Given the description of an element on the screen output the (x, y) to click on. 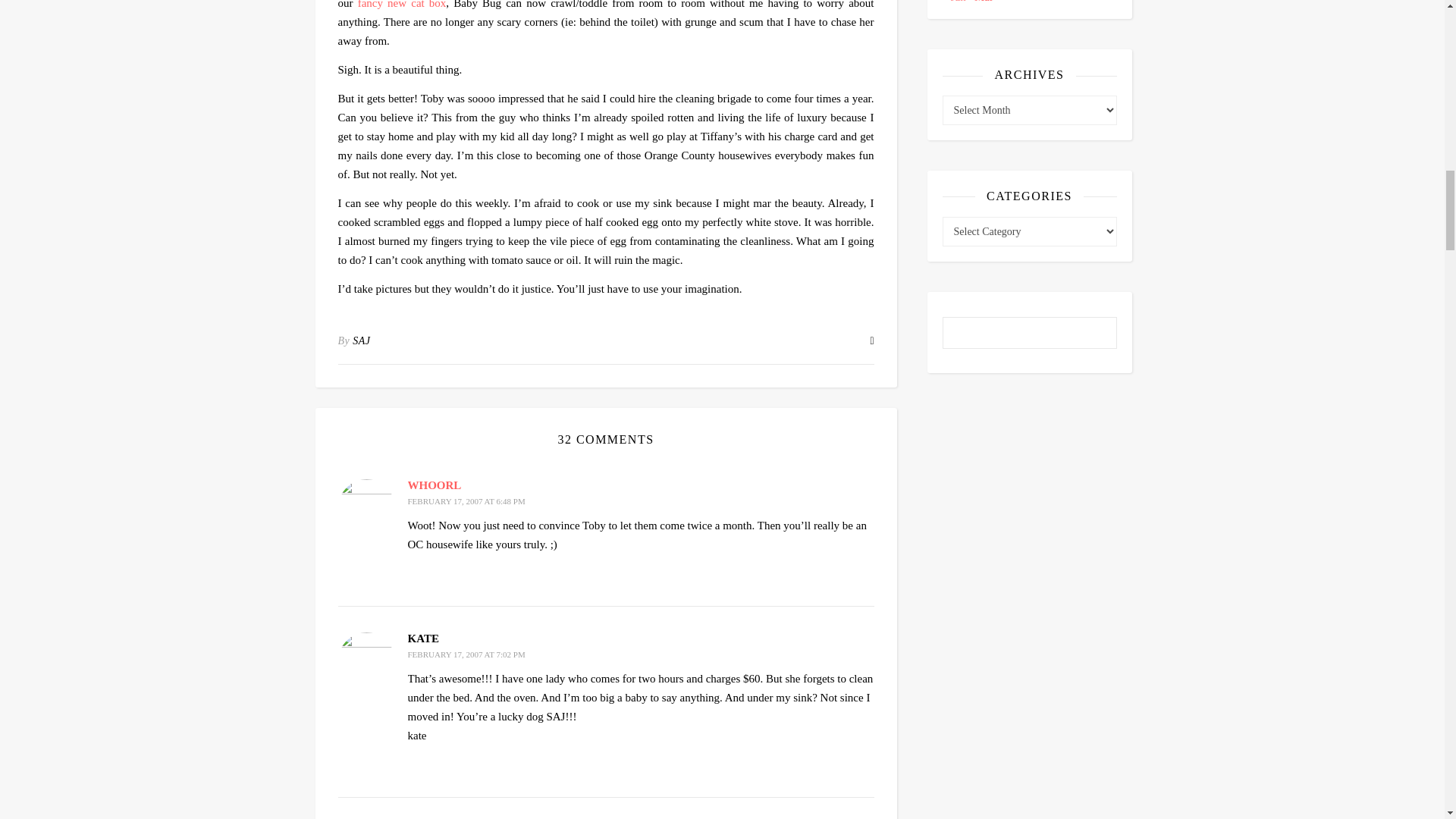
FEBRUARY 17, 2007 AT 6:48 PM (466, 500)
WHOORL (434, 485)
FEBRUARY 17, 2007 AT 7:02 PM (466, 654)
fancy new cat box (402, 4)
